Given the description of an element on the screen output the (x, y) to click on. 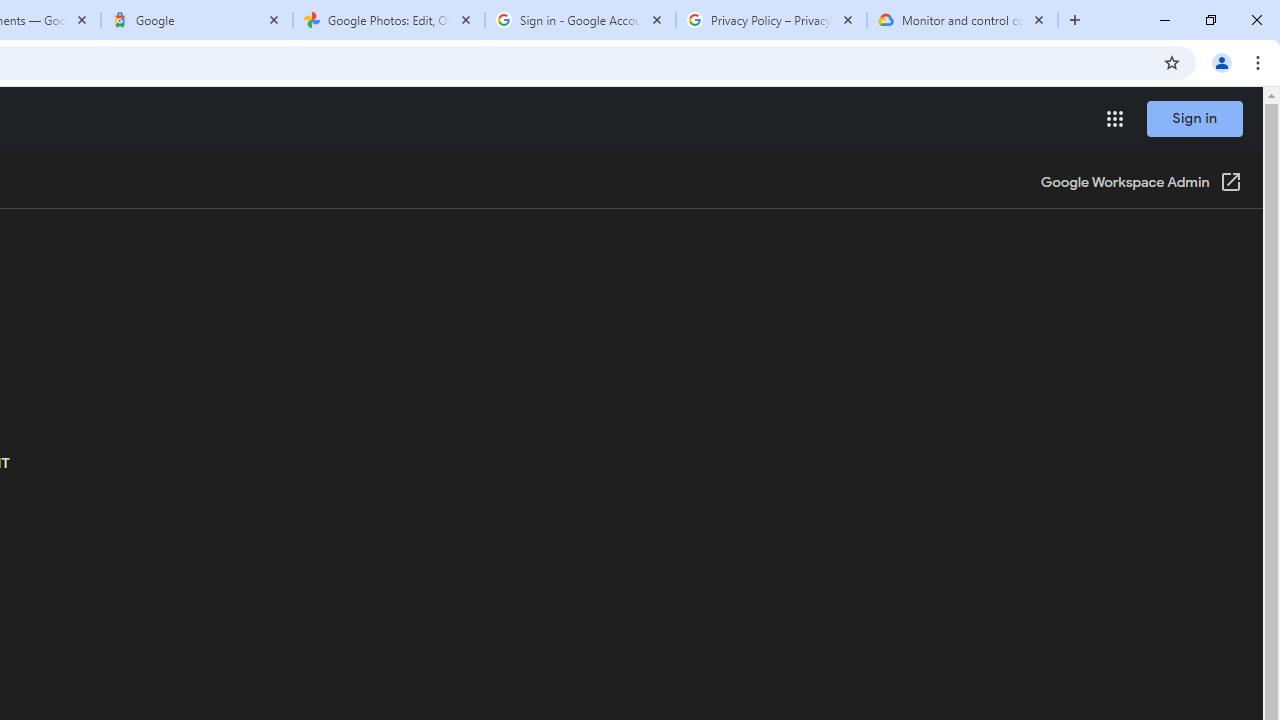
Sign in - Google Accounts (580, 20)
Google Workspace Admin (Open in a new window) (1140, 183)
Google (197, 20)
